Given the description of an element on the screen output the (x, y) to click on. 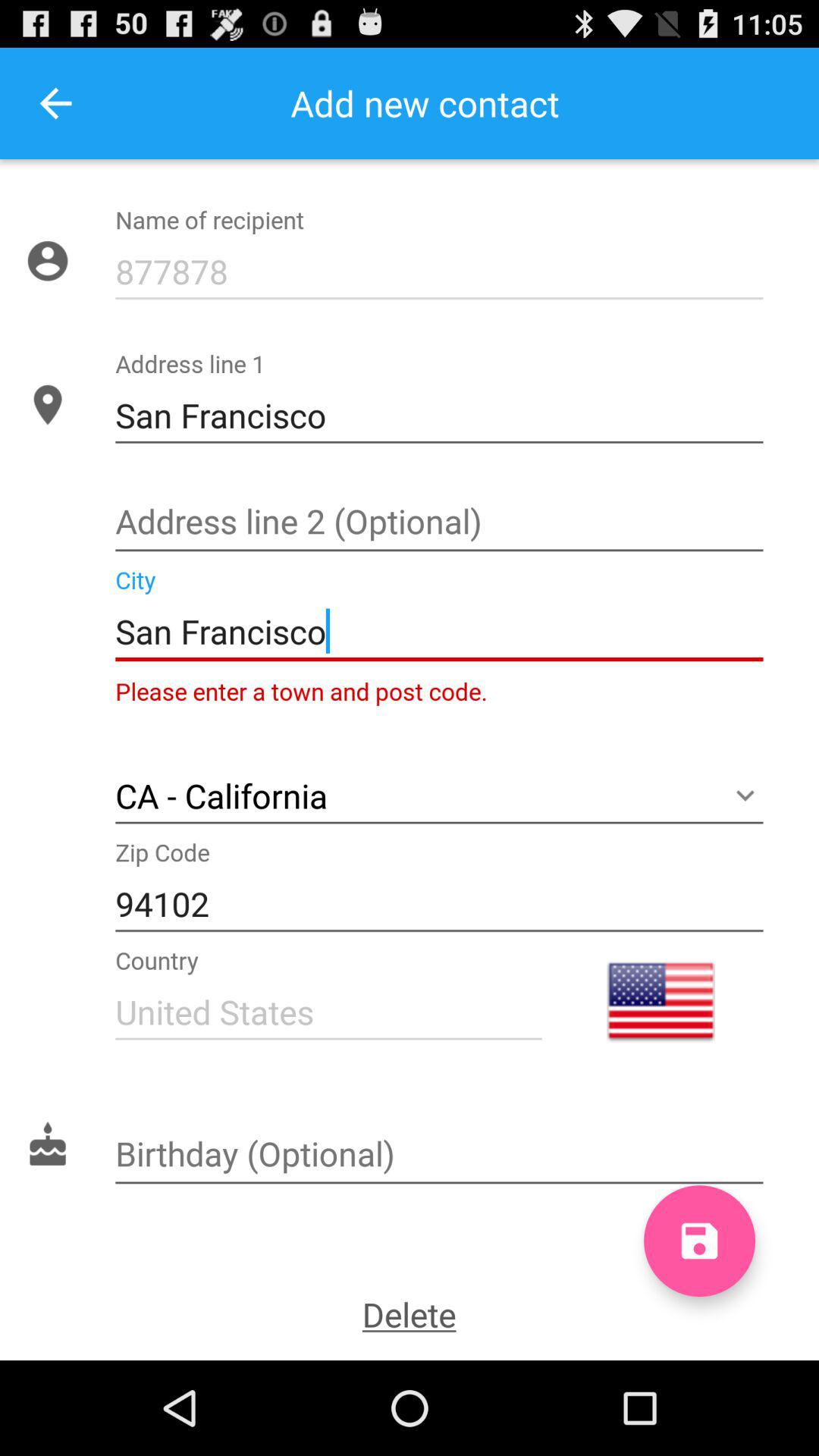
address line 2 textbox (439, 523)
